Given the description of an element on the screen output the (x, y) to click on. 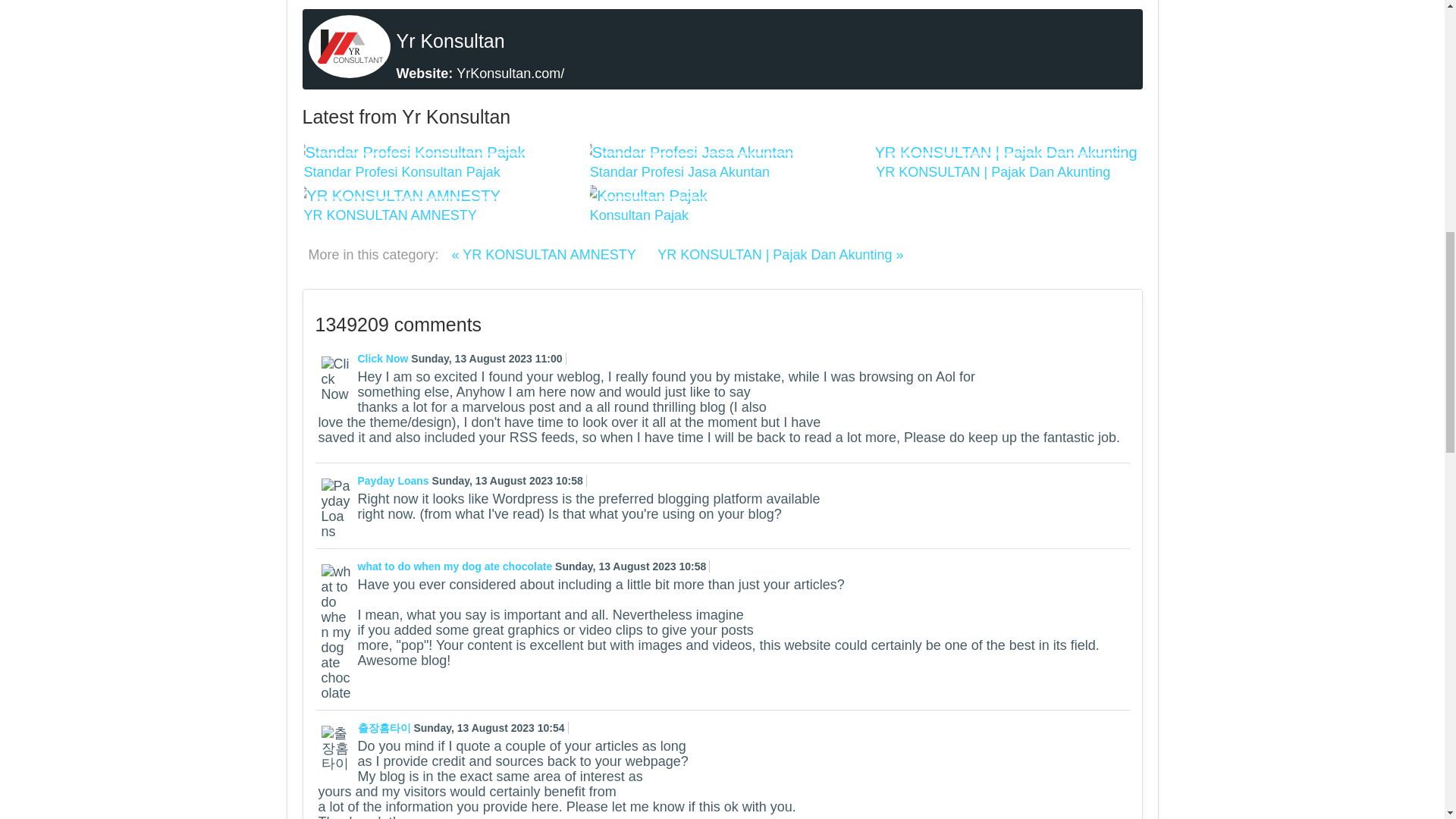
Click Now (385, 358)
Payday Loans (395, 480)
Standar Profesi Konsultan Pajak (400, 171)
Yr Konsultan (449, 40)
